Given the description of an element on the screen output the (x, y) to click on. 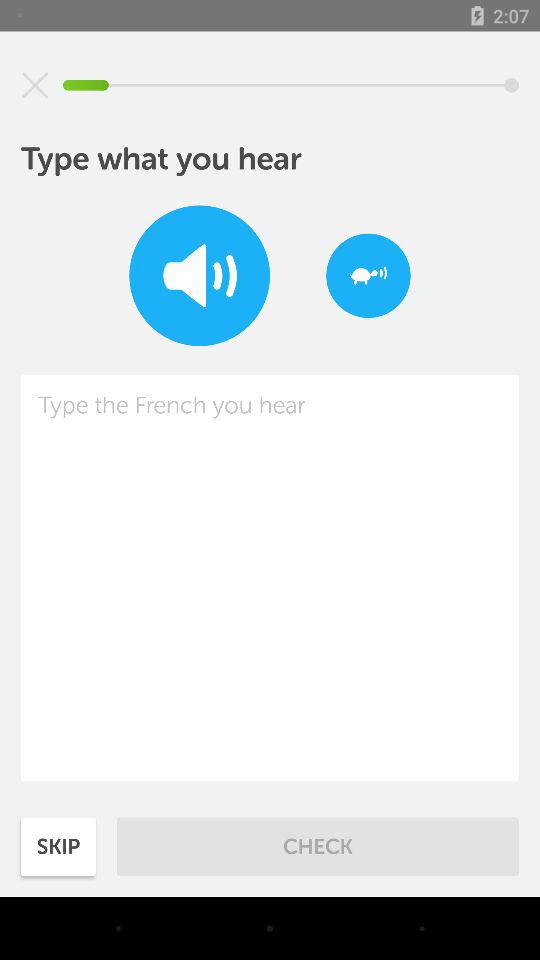
turn off the item next to check icon (58, 846)
